Given the description of an element on the screen output the (x, y) to click on. 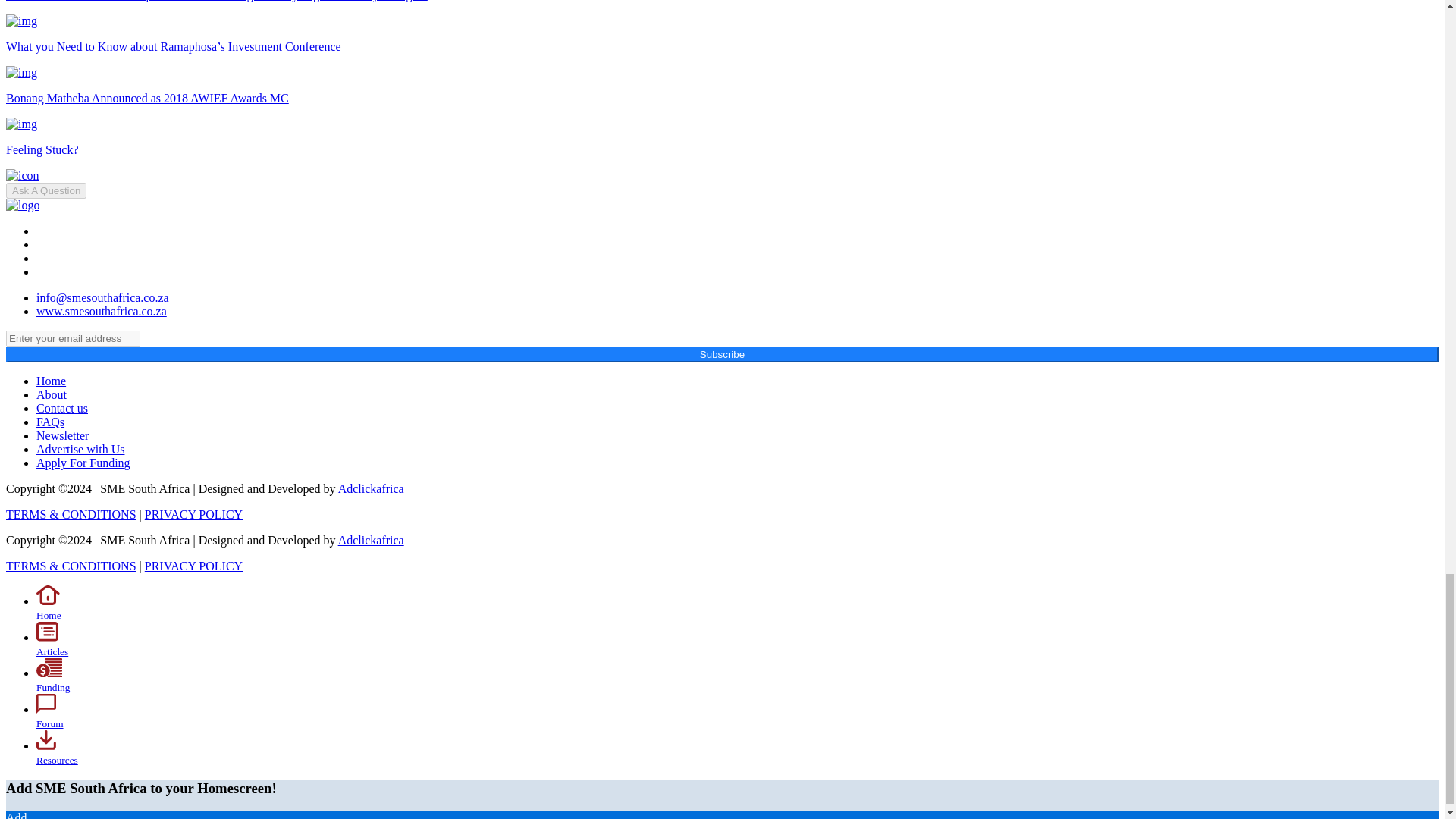
Ask A Question (45, 190)
